Given the description of an element on the screen output the (x, y) to click on. 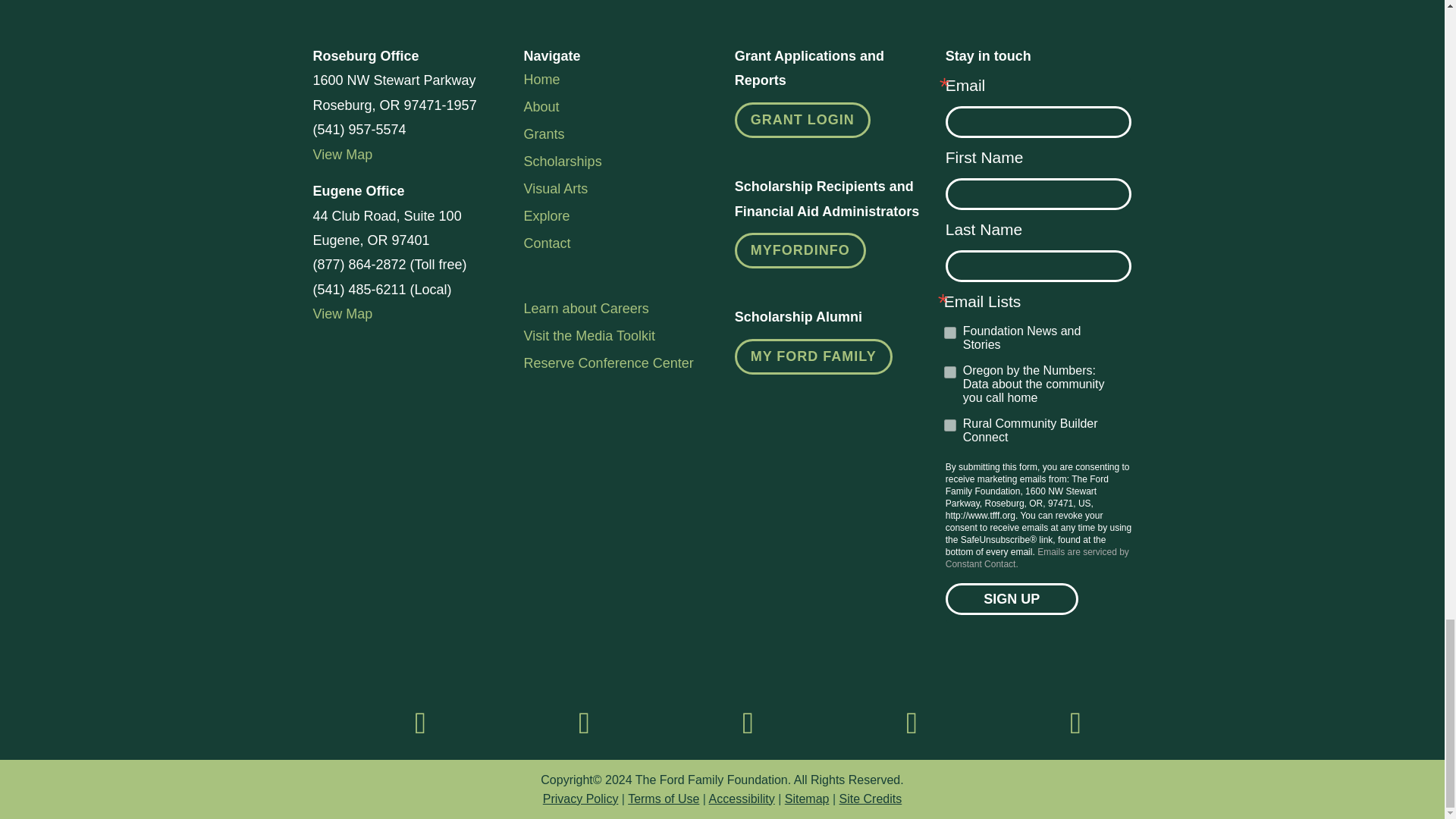
Follow on LinkedIn (747, 722)
60a6fc7a-a45f-11ea-9876-d4ae528ec60a (949, 425)
Follow on X (911, 722)
Follow on Facebook (419, 722)
f0b890d2-9e5b-11ed-a414-fa163e0f8365 (949, 332)
23f02850-3553-11e9-b52d-d4ae52754dbc (949, 372)
Follow on Youtube (1075, 722)
Follow on Instagram (583, 722)
